Given the description of an element on the screen output the (x, y) to click on. 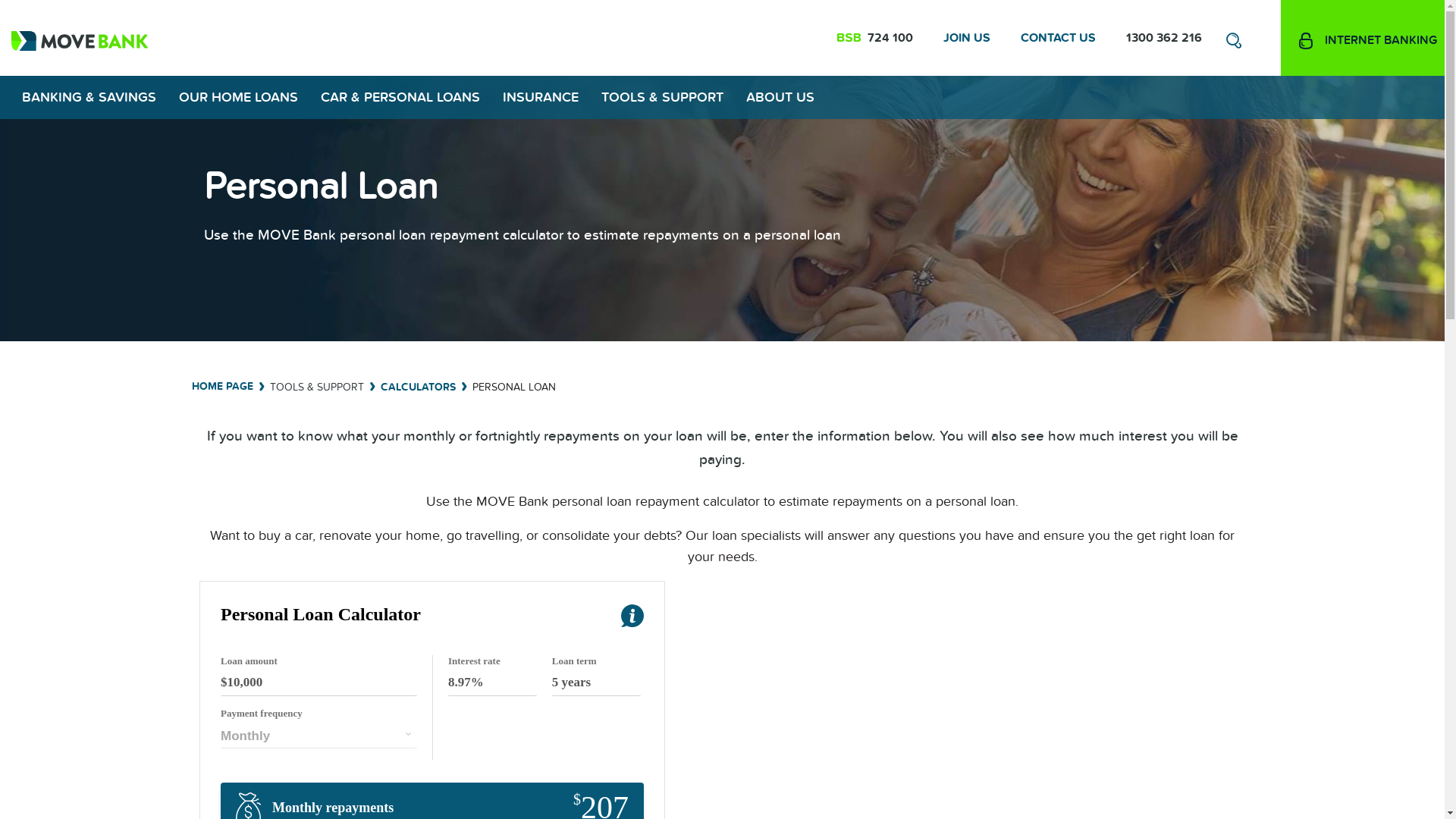
BANKING & SAVINGS Element type: text (88, 97)
OUR HOME LOANS Element type: text (238, 97)
CONTACT US Element type: text (1057, 37)
INSURANCE Element type: text (540, 97)
HOME PAGE Element type: text (221, 386)
ABOUT US Element type: text (779, 97)
INTERNET BANKING Element type: text (1362, 37)
CALCULATORS Element type: text (417, 387)
CAR & PERSONAL LOANS Element type: text (400, 97)
TOOLS & SUPPORT Element type: text (661, 97)
JOIN US Element type: text (966, 37)
